Given the description of an element on the screen output the (x, y) to click on. 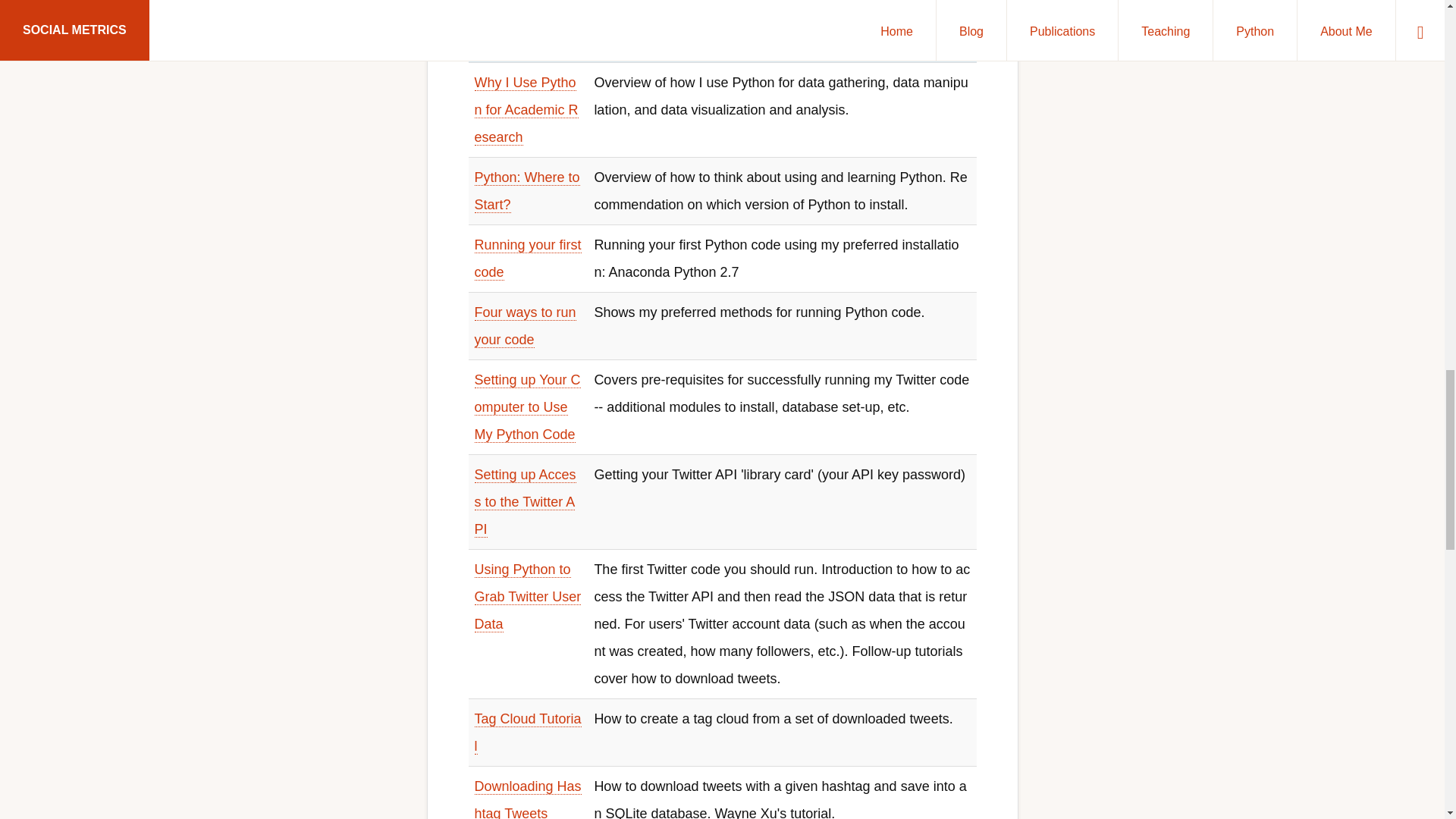
Using Python to Grab Twitter User Data (527, 596)
Running your first code (527, 258)
Why I Use Python for Academic Research (526, 110)
Setting up Your Computer to Use My Python Code (527, 407)
Python: Where to Start? (526, 190)
Downloading Hashtag Tweets (527, 798)
Tag Cloud Tutorial (527, 732)
Four ways to run your code (525, 326)
Setting up Access to the Twitter API (525, 501)
